Given the description of an element on the screen output the (x, y) to click on. 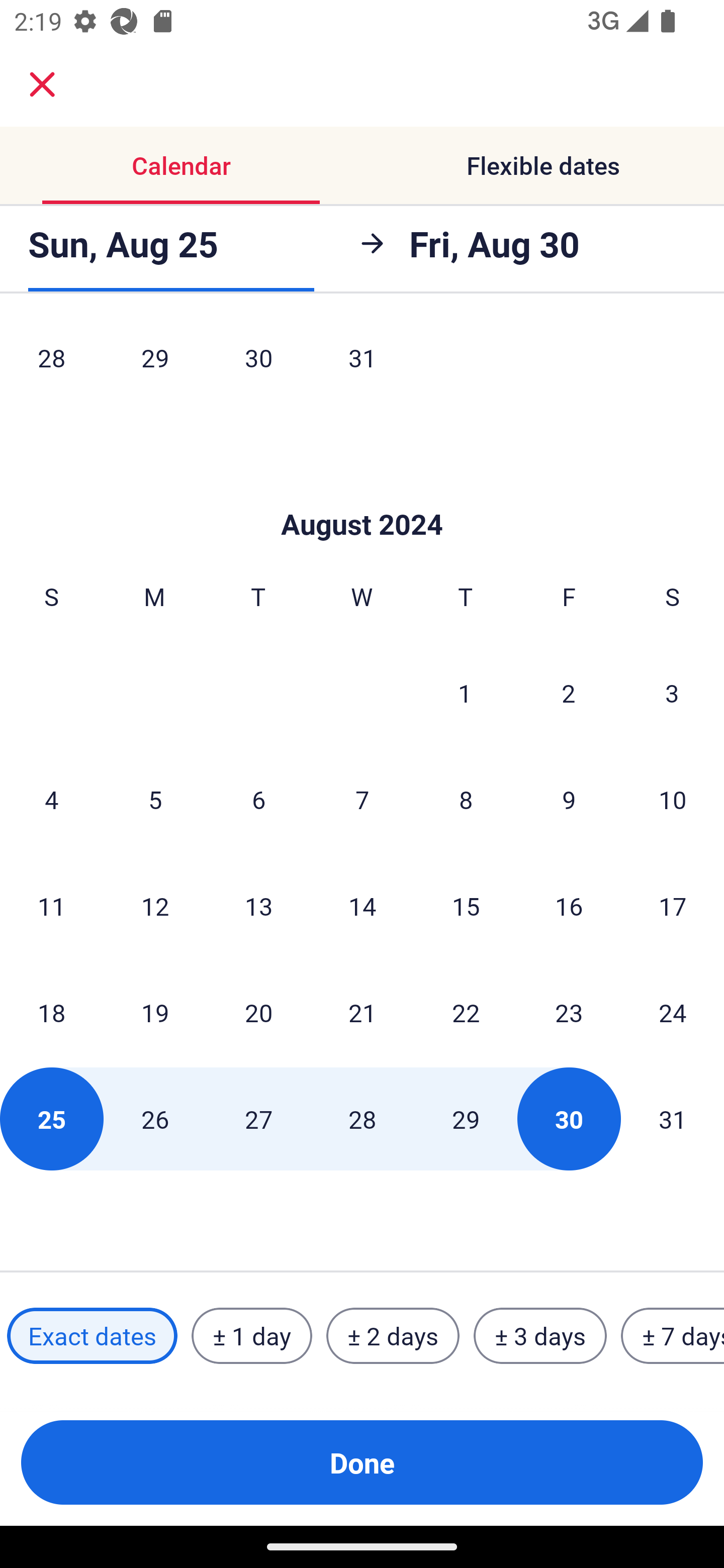
close. (42, 84)
Flexible dates (542, 164)
28 Sunday, July 28, 2024 (51, 365)
29 Monday, July 29, 2024 (155, 365)
30 Tuesday, July 30, 2024 (258, 365)
31 Wednesday, July 31, 2024 (362, 365)
Skip to Done (362, 493)
1 Thursday, August 1, 2024 (464, 692)
2 Friday, August 2, 2024 (568, 692)
3 Saturday, August 3, 2024 (672, 692)
4 Sunday, August 4, 2024 (51, 799)
5 Monday, August 5, 2024 (155, 799)
6 Tuesday, August 6, 2024 (258, 799)
7 Wednesday, August 7, 2024 (362, 799)
8 Thursday, August 8, 2024 (465, 799)
9 Friday, August 9, 2024 (569, 799)
10 Saturday, August 10, 2024 (672, 799)
11 Sunday, August 11, 2024 (51, 906)
12 Monday, August 12, 2024 (155, 906)
13 Tuesday, August 13, 2024 (258, 906)
14 Wednesday, August 14, 2024 (362, 906)
15 Thursday, August 15, 2024 (465, 906)
16 Friday, August 16, 2024 (569, 906)
17 Saturday, August 17, 2024 (672, 906)
18 Sunday, August 18, 2024 (51, 1012)
19 Monday, August 19, 2024 (155, 1012)
20 Tuesday, August 20, 2024 (258, 1012)
21 Wednesday, August 21, 2024 (362, 1012)
22 Thursday, August 22, 2024 (465, 1012)
23 Friday, August 23, 2024 (569, 1012)
24 Saturday, August 24, 2024 (672, 1012)
31 Saturday, August 31, 2024 (672, 1118)
Exact dates (92, 1335)
± 1 day (251, 1335)
± 2 days (392, 1335)
± 3 days (539, 1335)
± 7 days (672, 1335)
Done (361, 1462)
